Given the description of an element on the screen output the (x, y) to click on. 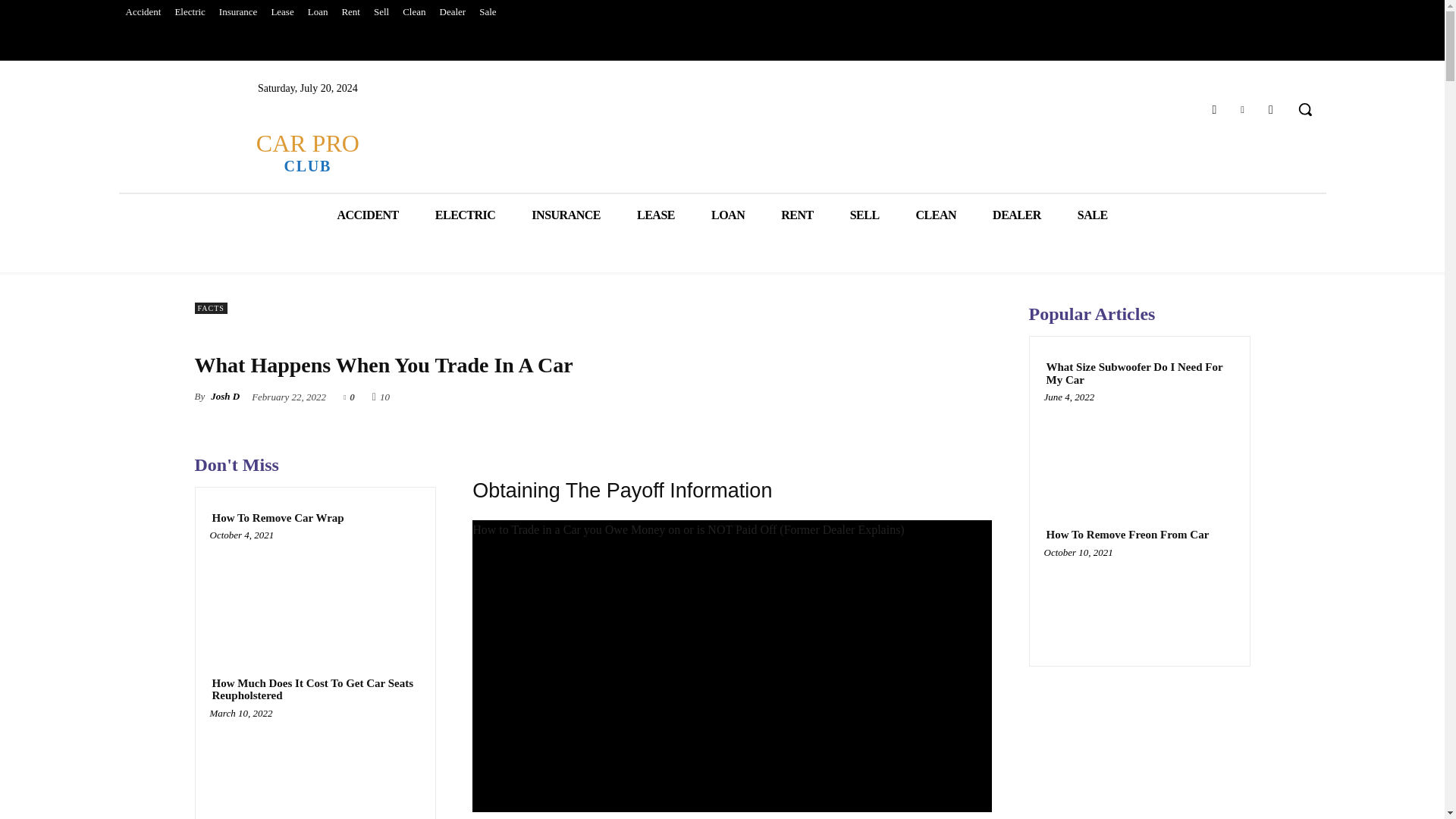
Youtube (1270, 109)
Insurance (238, 12)
Clean (414, 12)
How To Remove Car Wrap (277, 517)
Twitter (1241, 109)
Accident (142, 12)
Facebook (1214, 109)
Sell (381, 12)
Sale (486, 12)
ELECTRIC (464, 214)
How To Remove Car Wrap (314, 590)
Lease (306, 151)
Dealer (281, 12)
How Much Does It Cost To Get Car Seats Reupholstered (452, 12)
